Given the description of an element on the screen output the (x, y) to click on. 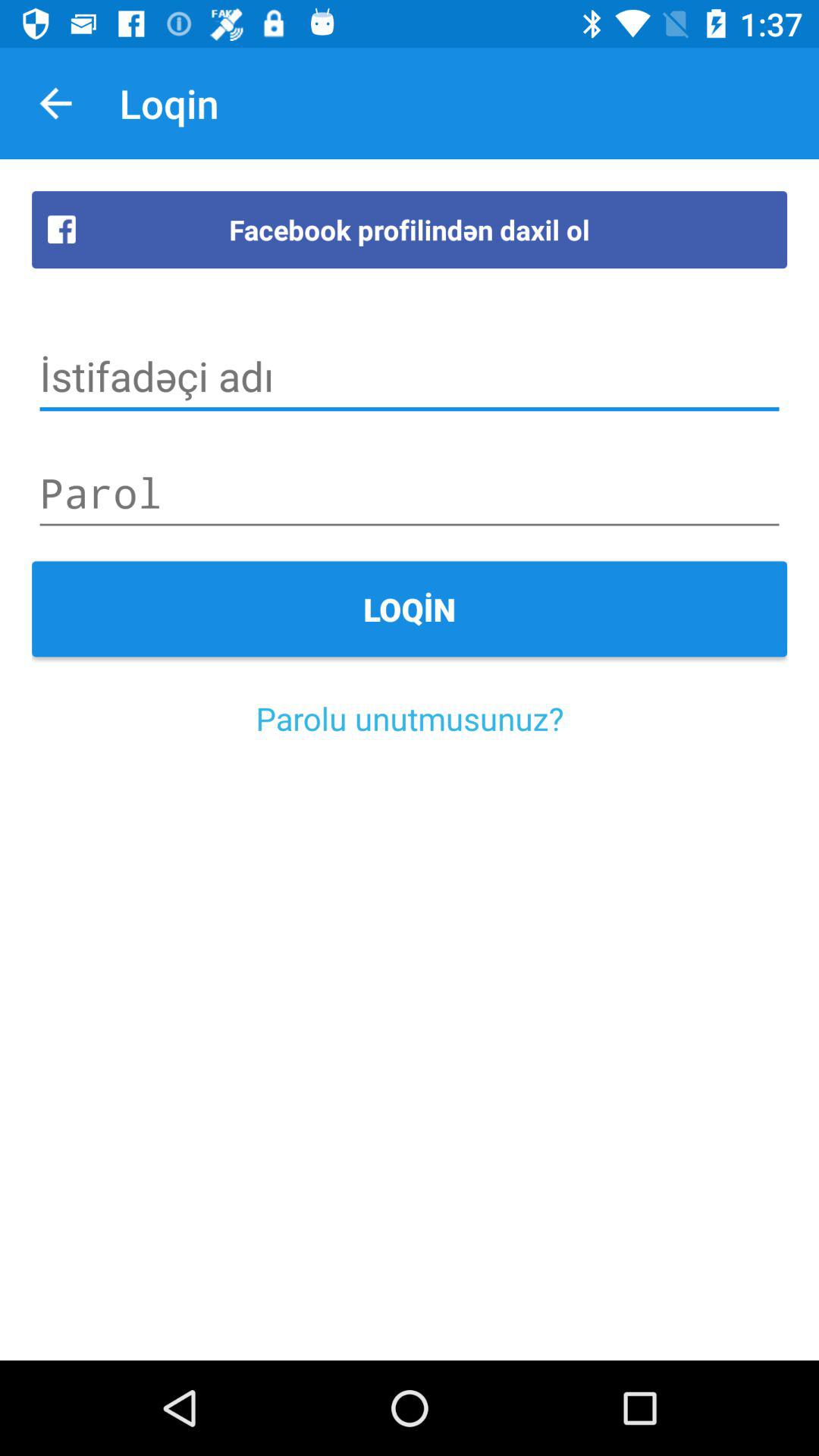
enter password (409, 492)
